Given the description of an element on the screen output the (x, y) to click on. 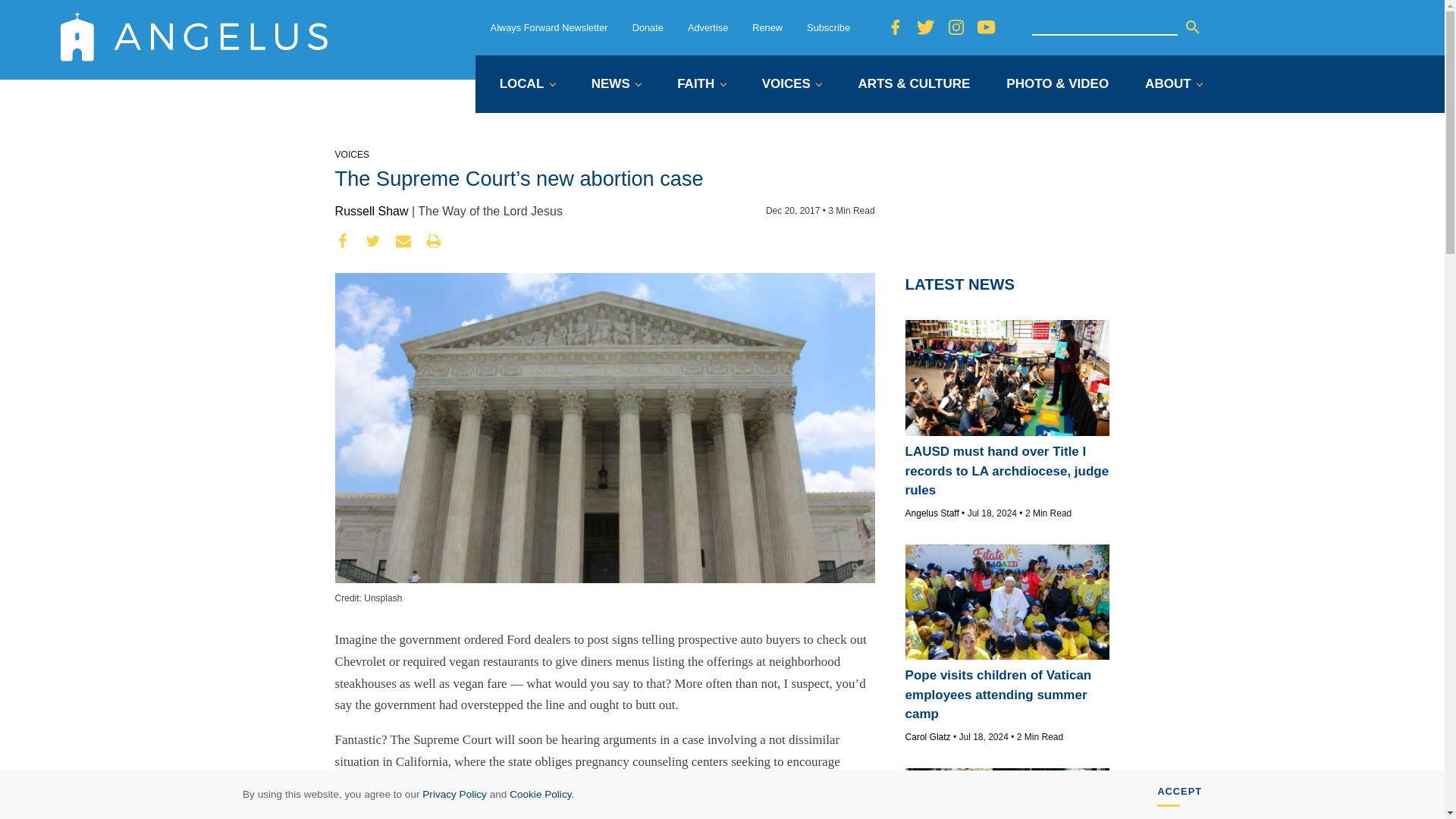
Always Forward Newsletter (549, 27)
Posts by Angelus Staff (932, 512)
LOCAL (526, 84)
Subscribe (828, 27)
NEWS (615, 84)
ACCEPT (1179, 794)
VOICES (791, 84)
Posts by Russell Shaw (371, 210)
Renew (767, 27)
envelope (403, 240)
Posts by Carol Glatz (927, 737)
FAITH (701, 84)
Cookie Policy. (541, 794)
print (433, 240)
facebook (342, 240)
